Given the description of an element on the screen output the (x, y) to click on. 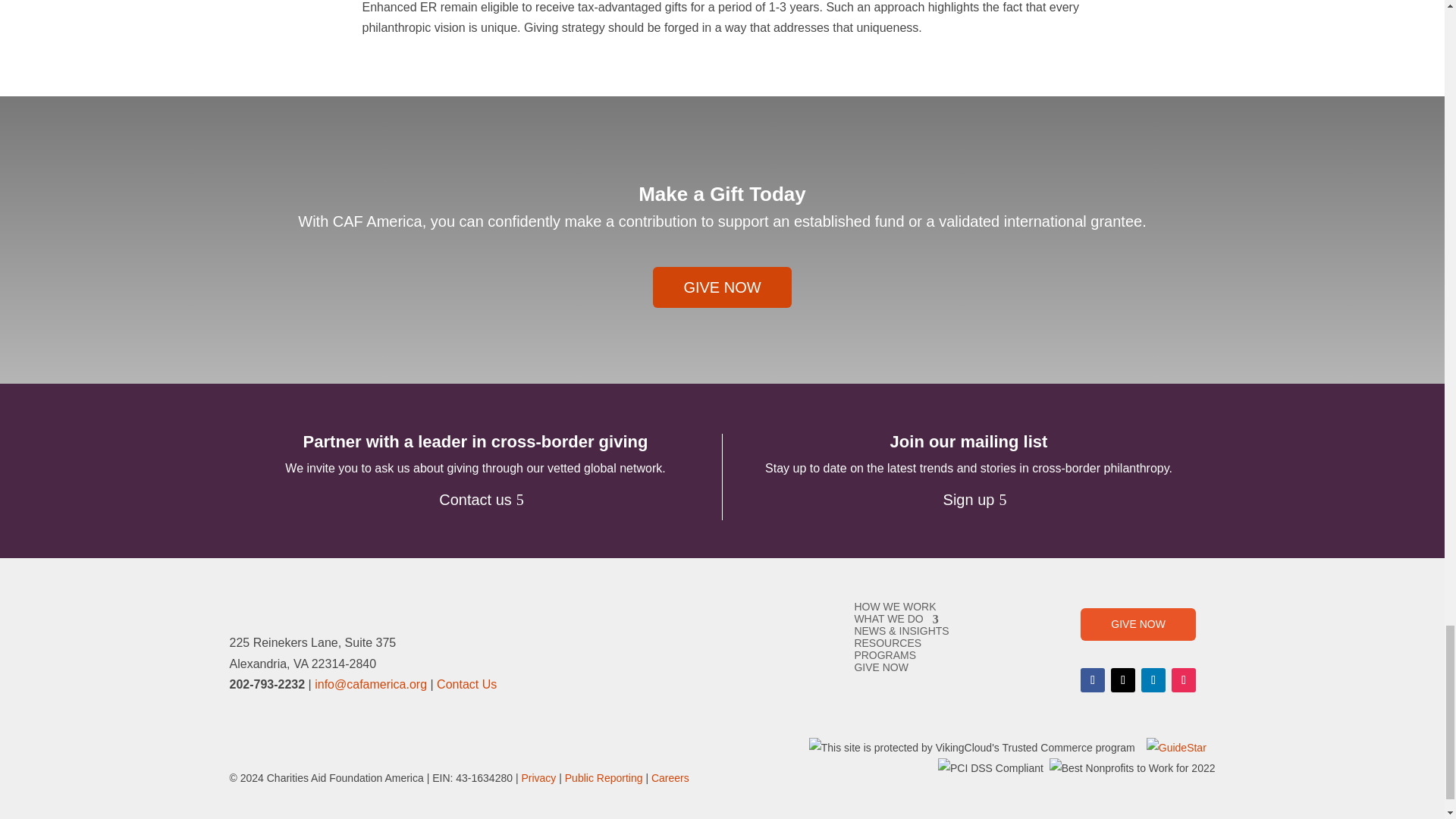
WHAT WE DO (895, 618)
GIVE NOW (721, 286)
Follow on Facebook (1092, 680)
Sign up (968, 499)
Follow on X (1122, 680)
Contact Us (466, 684)
Contact us (475, 499)
Follow on Instagram (1183, 680)
Follow on LinkedIn (1153, 680)
HOW WE WORK (894, 606)
